Given the description of an element on the screen output the (x, y) to click on. 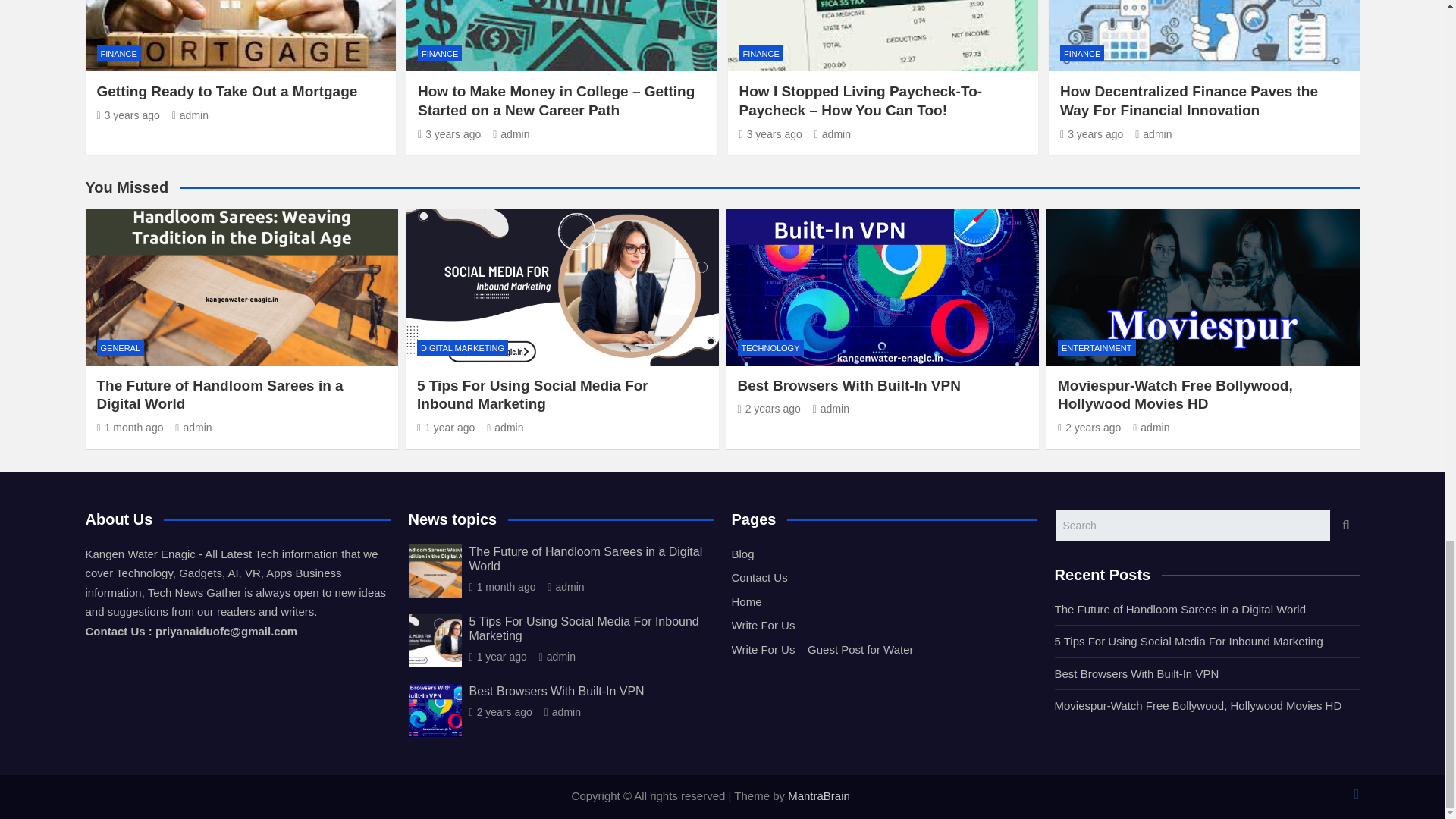
5 Tips For Using Social Media For Inbound Marketing (445, 427)
MantraBrain (818, 795)
Getting Ready to Take Out a Mortgage (128, 114)
Best Browsers With Built-In VPN (499, 711)
Best Browsers With Built-In VPN (767, 408)
5 Tips For Using Social Media For Inbound Marketing (496, 656)
The Future of Handloom Sarees in a Digital World (130, 427)
The Future of Handloom Sarees in a Digital World (501, 586)
Moviespur-Watch Free Bollywood, Hollywood Movies HD (1089, 427)
